Given the description of an element on the screen output the (x, y) to click on. 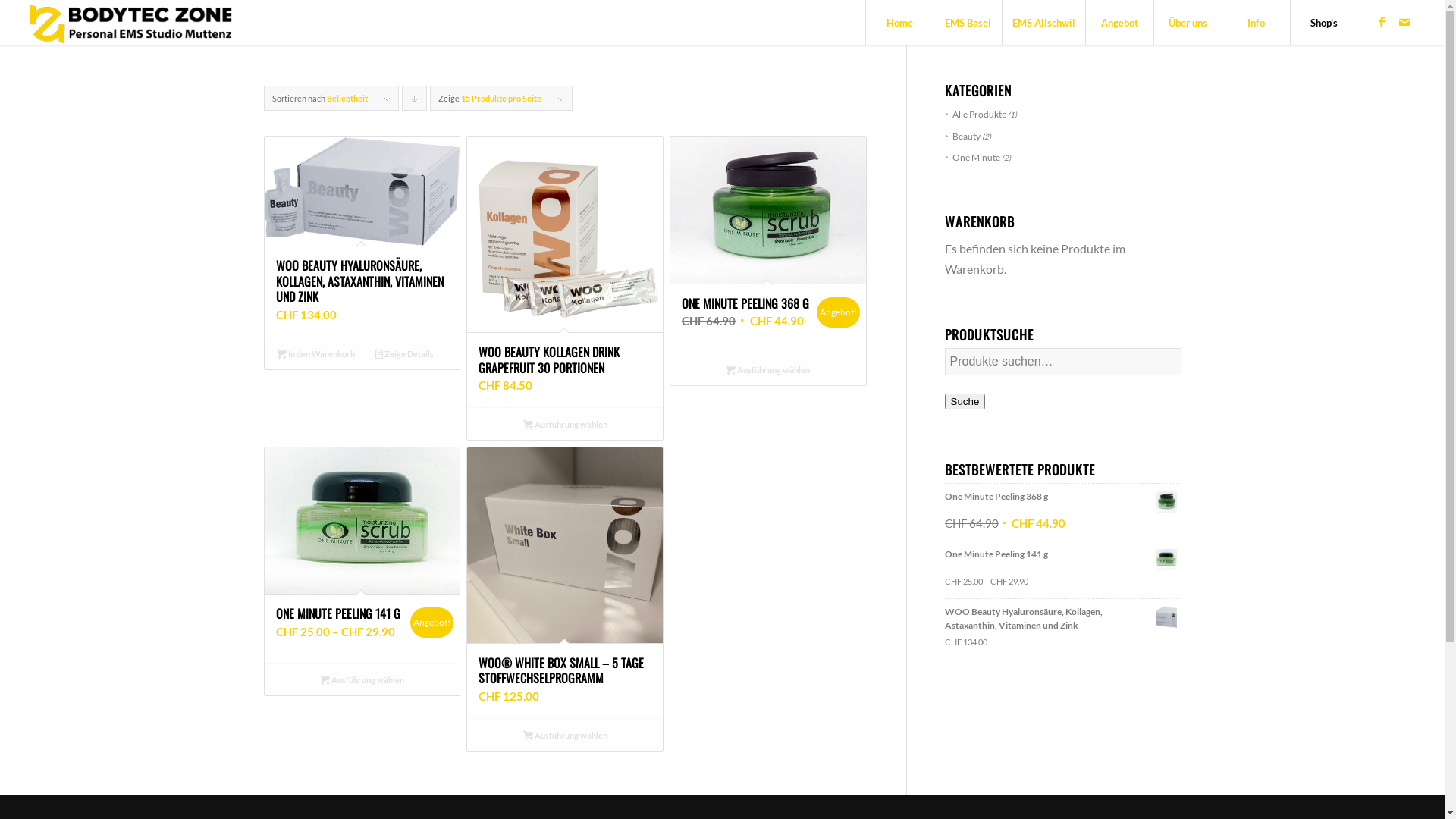
Home Element type: text (899, 22)
Zeige Details Element type: text (404, 352)
One Minute Element type: text (971, 157)
Mail Element type: hover (1404, 21)
One Minute Peeling 368 g Element type: text (1062, 501)
Facebook Element type: hover (1381, 21)
Suche Element type: text (964, 401)
Angebot Element type: text (1119, 22)
Beauty Element type: text (961, 135)
In den Warenkorb Element type: text (315, 352)
EMS Basel Element type: text (967, 22)
Alle Produkte Element type: text (974, 113)
ONE MINUTE PEELING 368 G
CHF 64.90 CHF 44.90
Angebot! Element type: text (768, 244)
One Minute Peeling 141 g Element type: text (1062, 559)
WOO BEAUTY KOLLAGEN DRINK GRAPEFRUIT 30 PORTIONEN
CHF 84.50 Element type: text (564, 271)
EMS Allschwil Element type: text (1043, 22)
Info Element type: text (1255, 22)
